Given the description of an element on the screen output the (x, y) to click on. 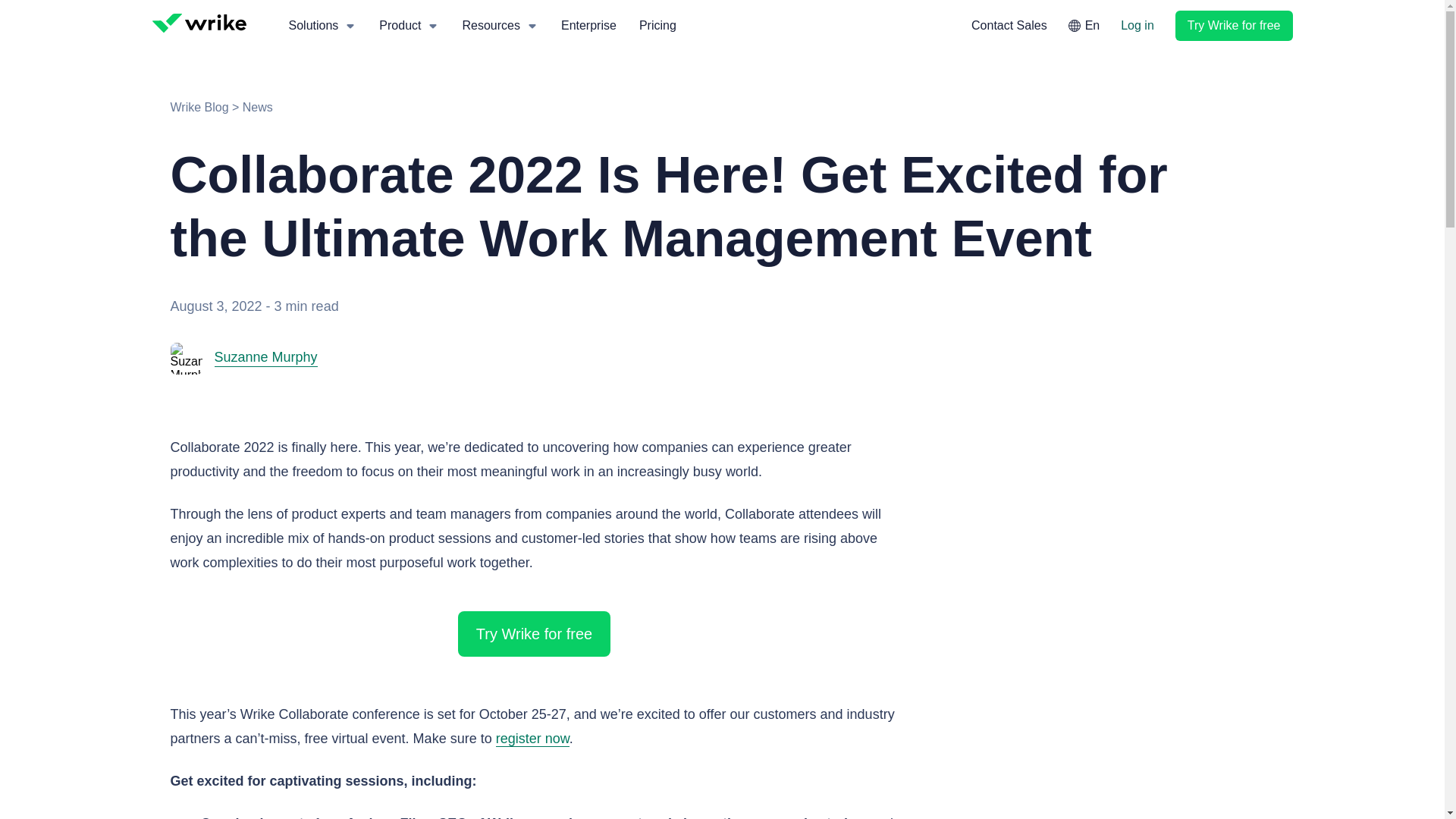
Solutions (323, 25)
Wrike (199, 24)
Product (409, 25)
